Given the description of an element on the screen output the (x, y) to click on. 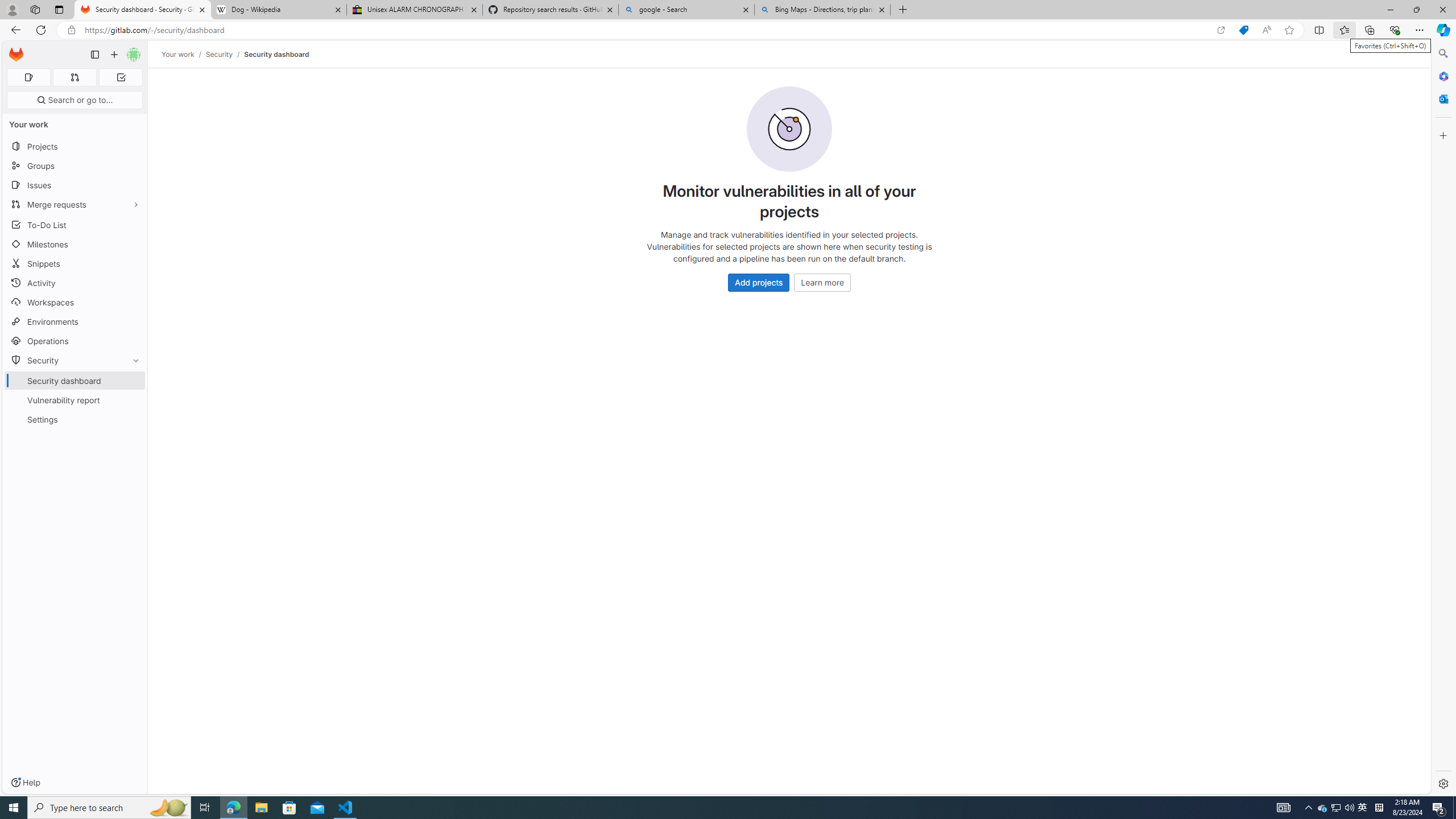
Projects (74, 145)
Skip to main content (13, 49)
Dog - Wikipedia (277, 9)
Snippets (74, 262)
Homepage (16, 54)
Issues (74, 185)
Security/ (224, 53)
Create new... (113, 54)
Activity (74, 282)
